Given the description of an element on the screen output the (x, y) to click on. 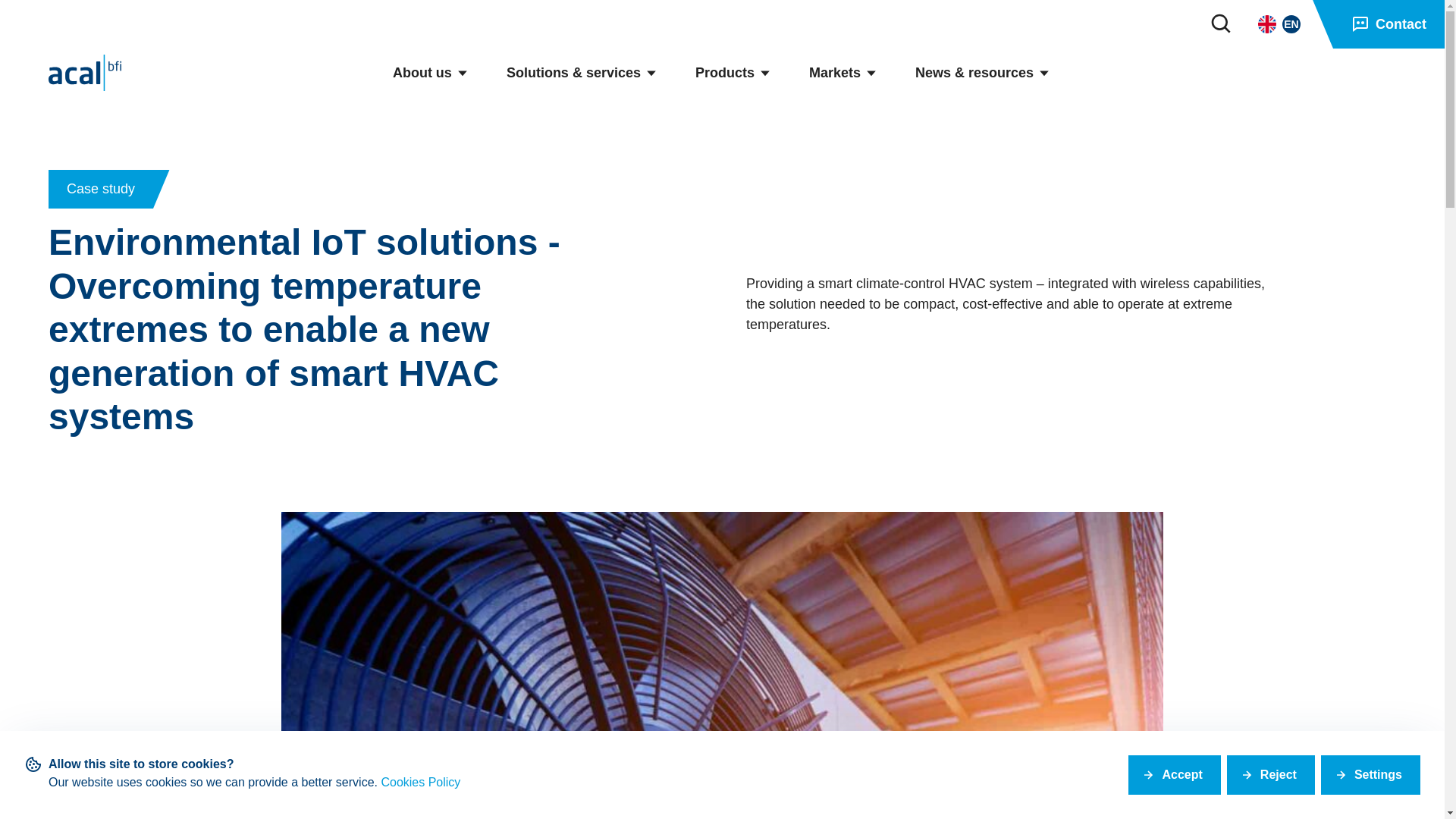
About us (430, 73)
Products (733, 73)
